Given the description of an element on the screen output the (x, y) to click on. 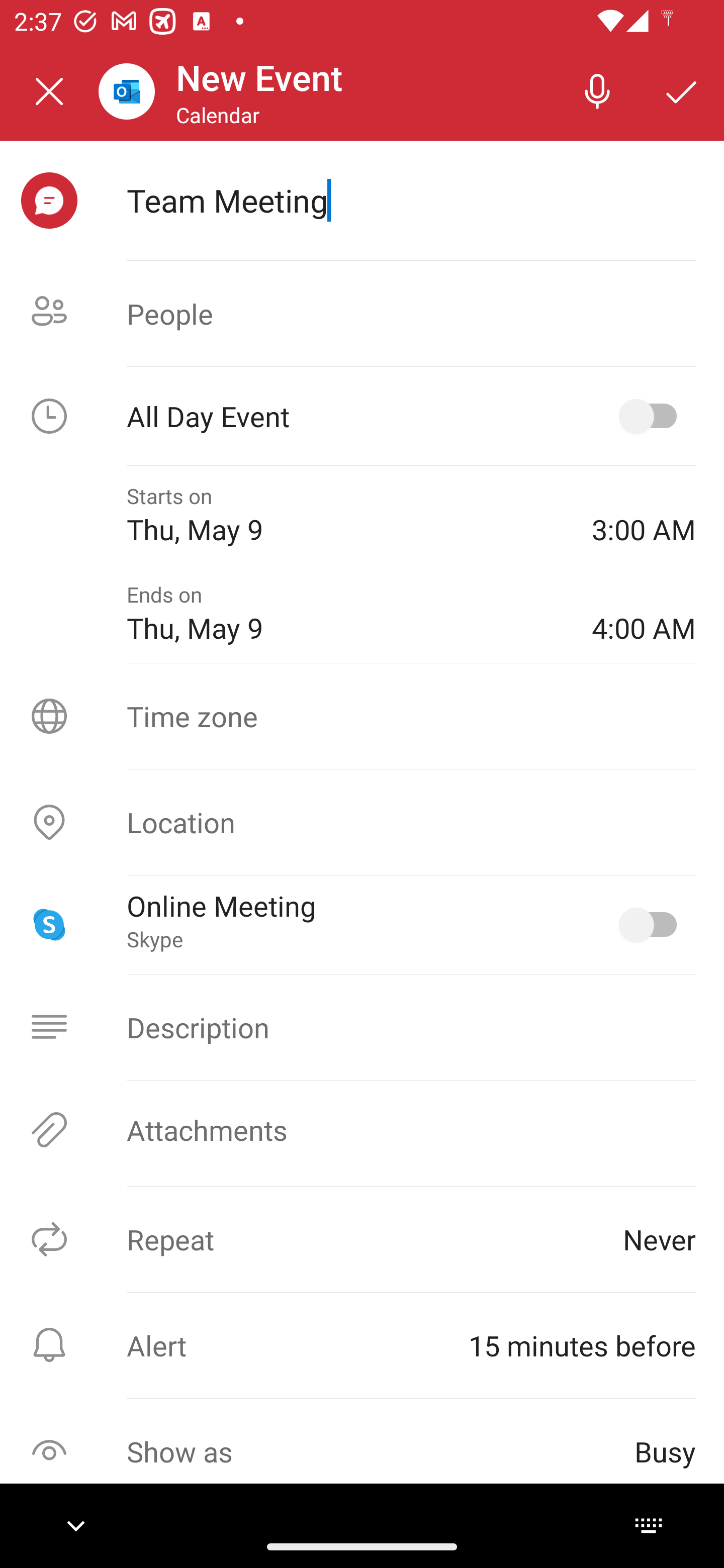
Close (49, 91)
Save (681, 90)
Team Meeting (410, 200)
meeting selected, event icon picker (48, 200)
People (362, 313)
All Day Event (362, 415)
Starts on Thu, May 9 (344, 514)
3:00 AM (643, 514)
Ends on Thu, May 9 (344, 613)
4:00 AM (643, 613)
Time zone (362, 715)
Location (362, 821)
Online Meeting, Skype selected (651, 923)
Description (362, 1026)
Attachments (362, 1129)
Repeat Never (362, 1239)
Alert ⁨15 minutes before (362, 1345)
Show as Busy (362, 1450)
